Given the description of an element on the screen output the (x, y) to click on. 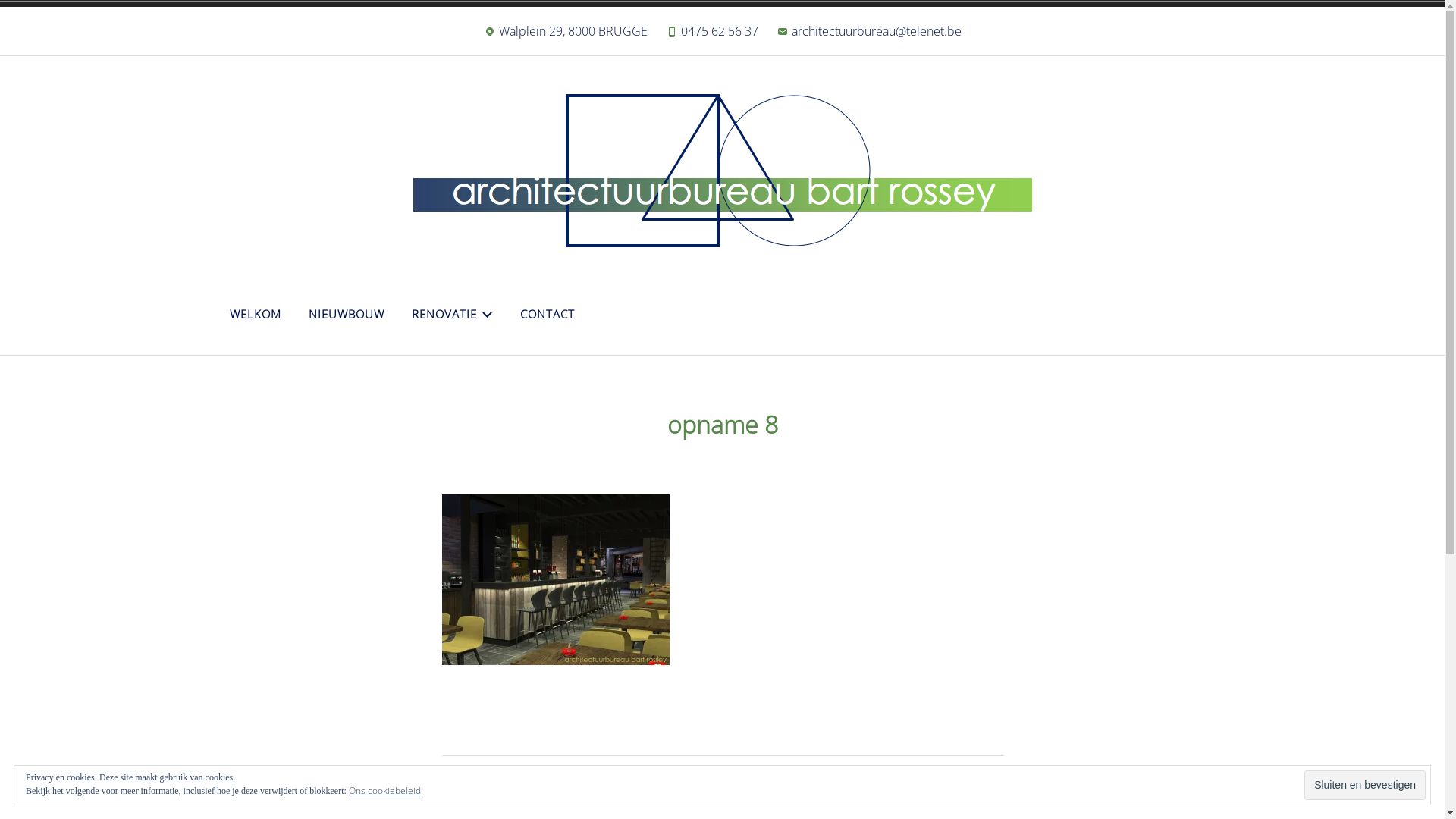
WELKOM Element type: text (255, 313)
Sluiten en bevestigen Element type: text (1364, 785)
RENOVATIE Element type: text (452, 313)
architectuurbureau bart rossey Element type: text (547, 295)
Walplein 29, 8000 BRUGGE Element type: text (565, 34)
NIEUWBOUW Element type: text (346, 313)
architectuurbureau@telenet.be Element type: text (868, 34)
0475 62 56 37 Element type: text (711, 34)
CONTACT Element type: text (546, 313)
Ons cookiebeleid Element type: text (384, 790)
